Given the description of an element on the screen output the (x, y) to click on. 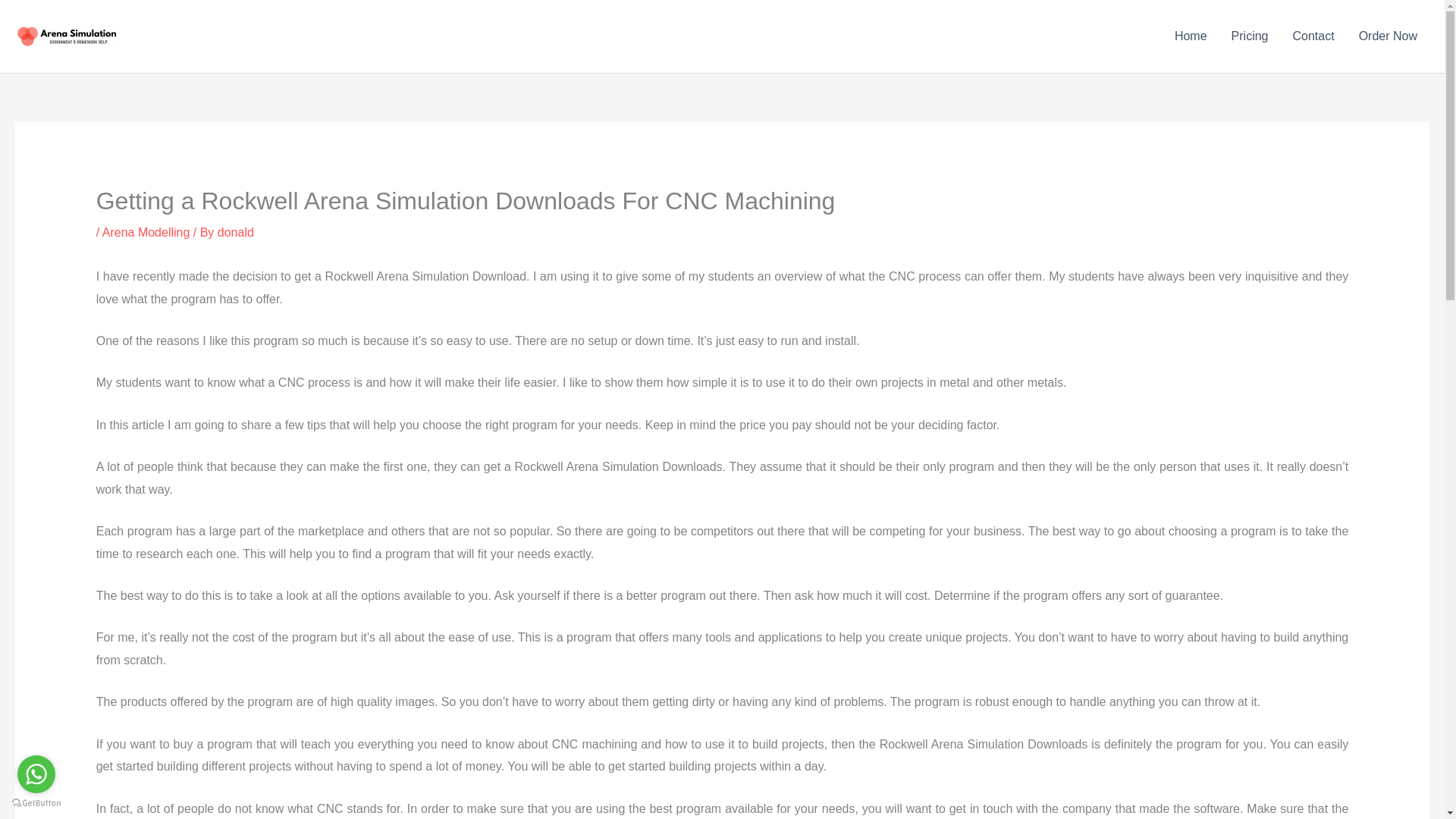
Arena Modelling (145, 232)
Contact (1312, 36)
Order Now (1387, 36)
Home (1190, 36)
donald (234, 232)
View all posts by donald (234, 232)
Pricing (1250, 36)
